Given the description of an element on the screen output the (x, y) to click on. 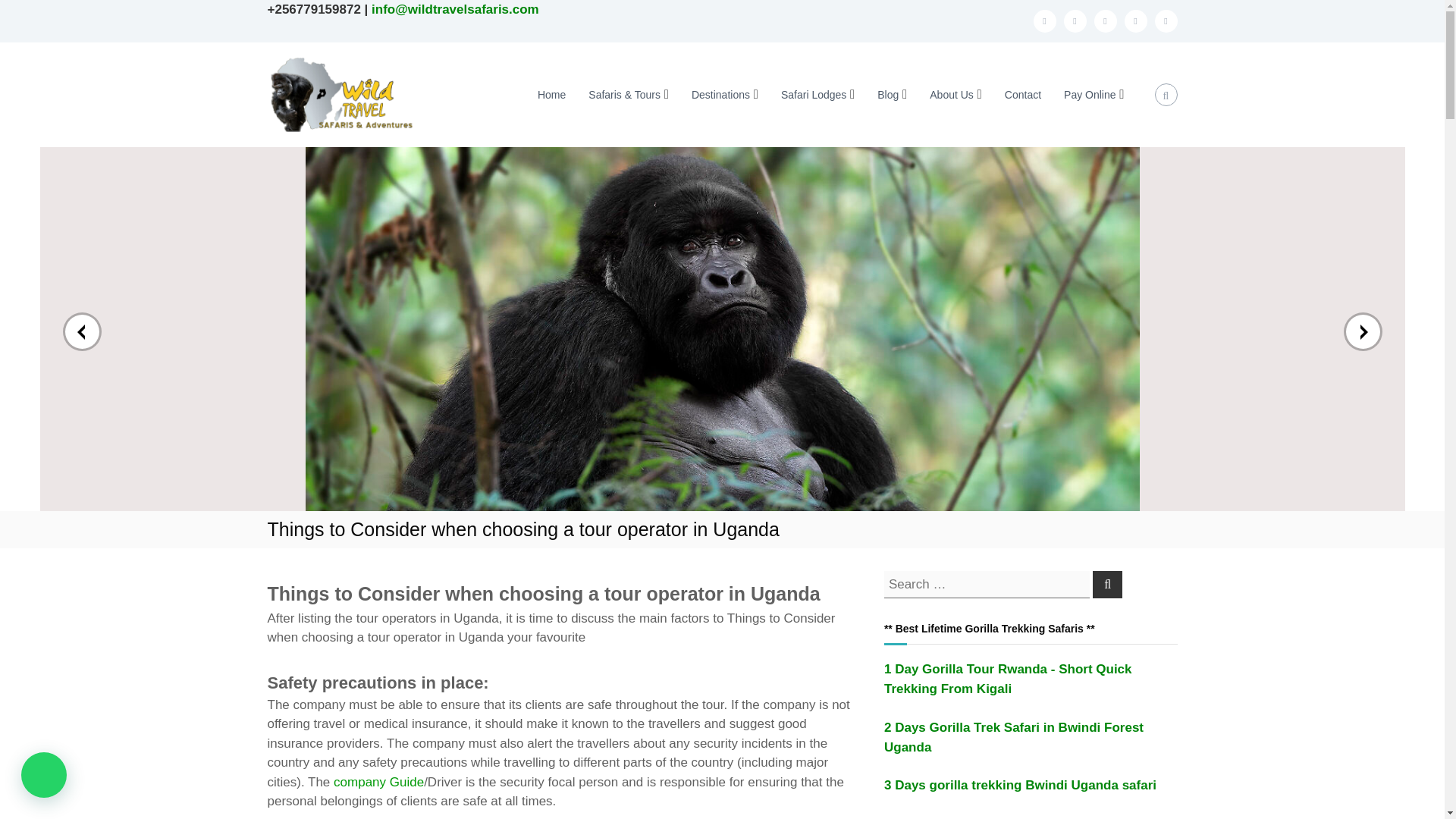
Blog (887, 94)
Home (551, 94)
Twitter (1074, 20)
Safari Lodges (812, 94)
Pinterest (1165, 20)
About Us (952, 94)
Destinations (720, 94)
Linkedin (1104, 20)
Instagram (1135, 20)
Facebook (1043, 20)
